Given the description of an element on the screen output the (x, y) to click on. 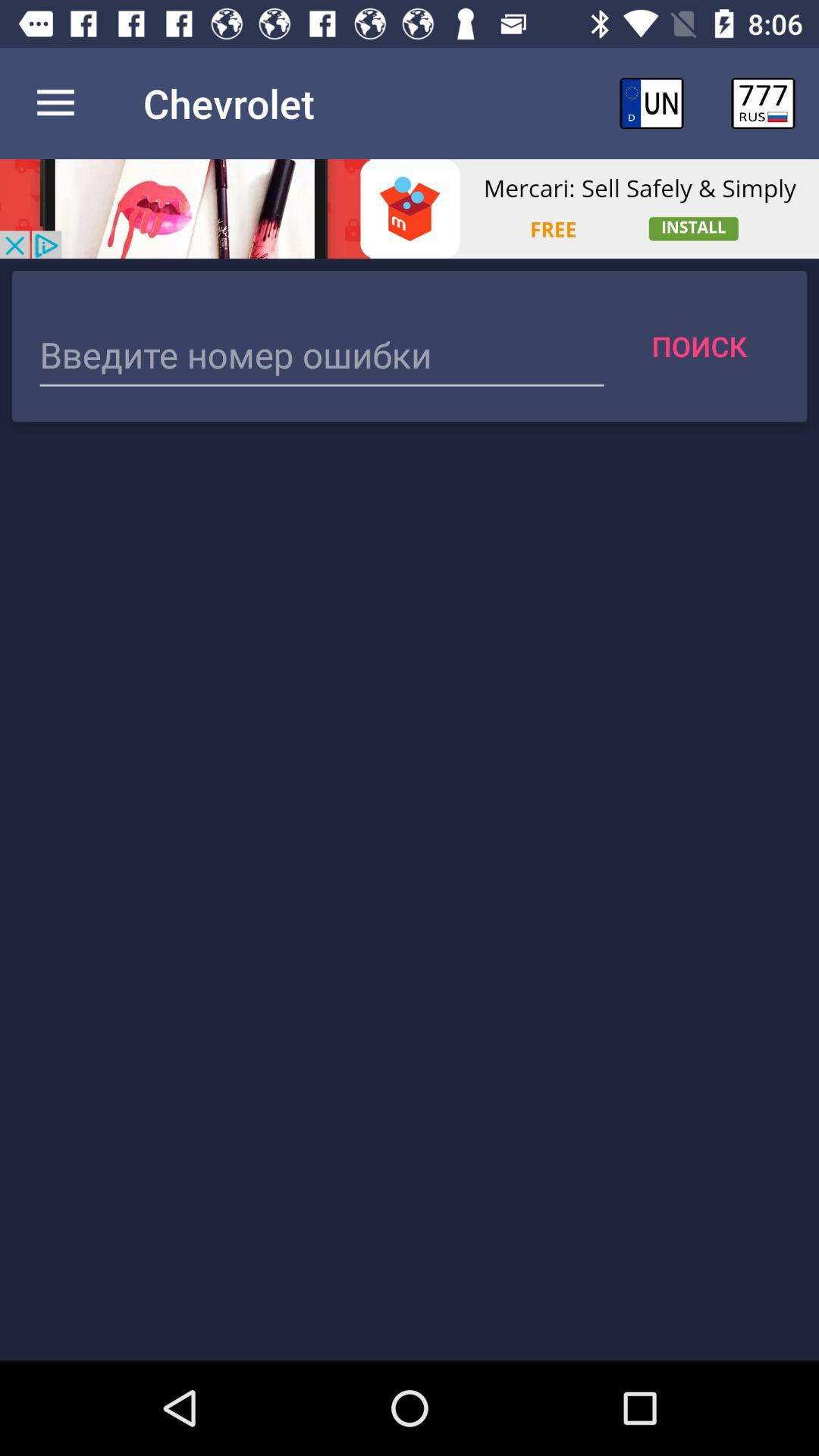
screen page (321, 357)
